Given the description of an element on the screen output the (x, y) to click on. 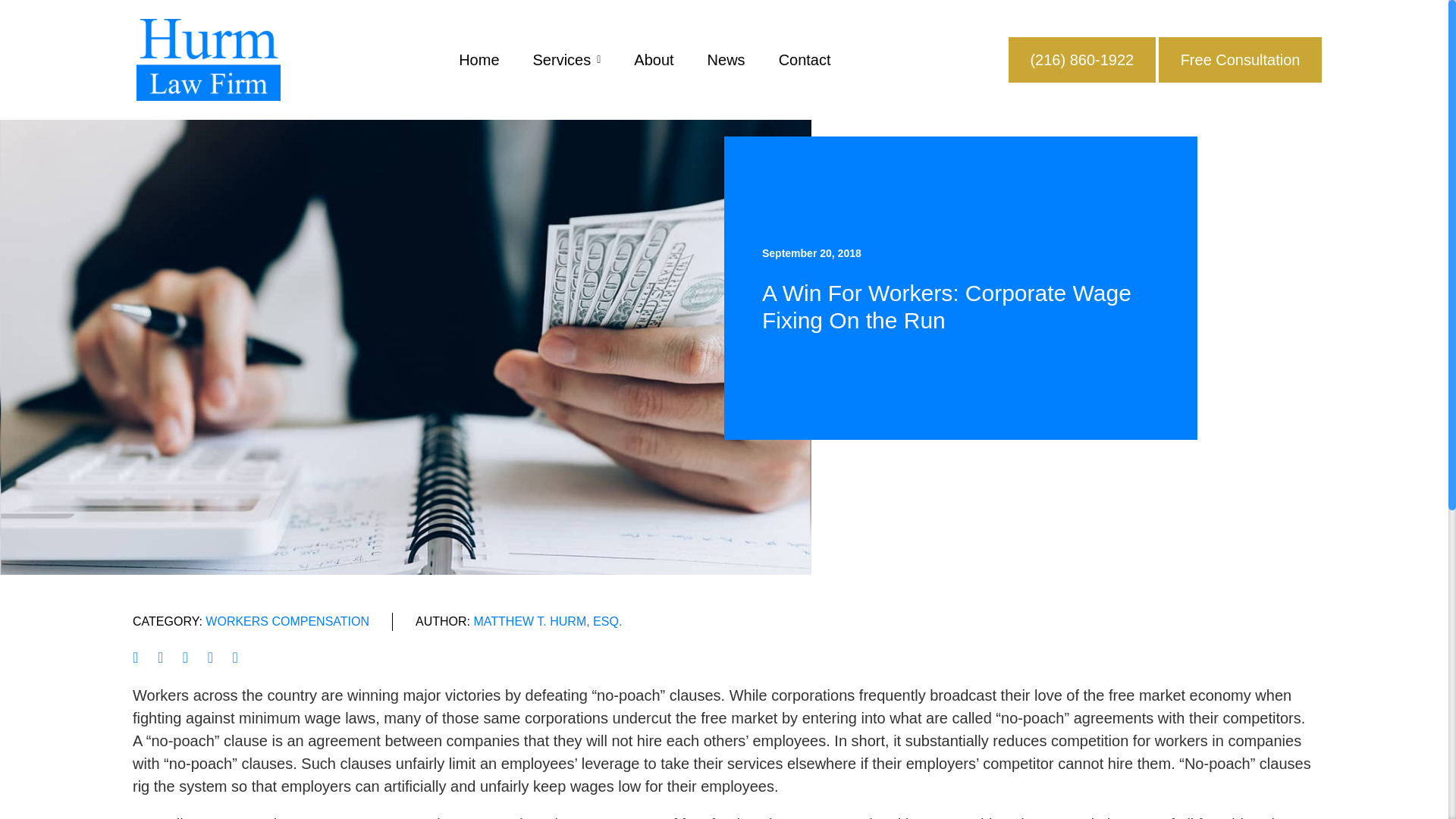
Services (566, 59)
CATEGORY: WORKERS COMPENSATION (250, 621)
Free Consultation (1240, 59)
